Given the description of an element on the screen output the (x, y) to click on. 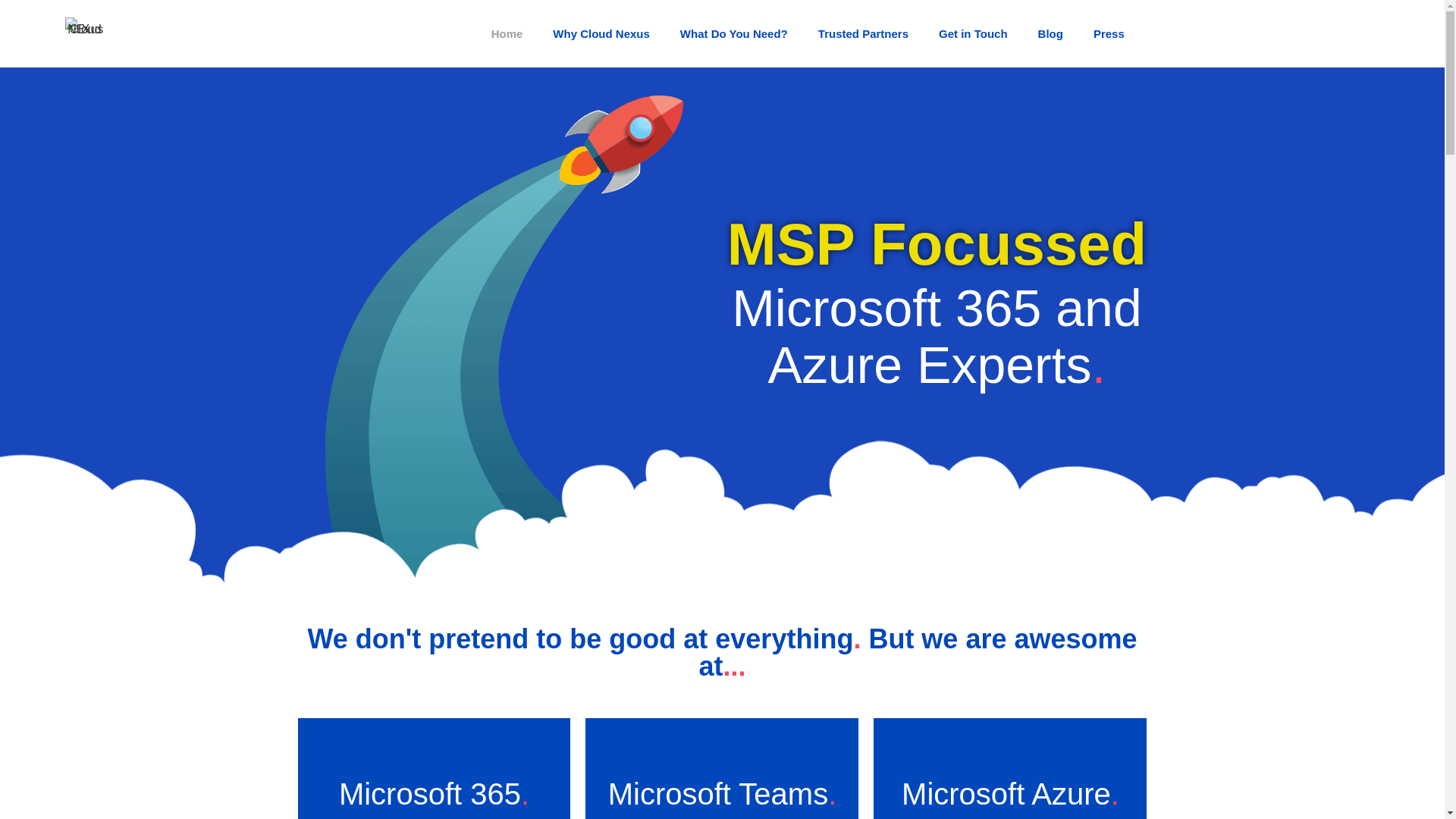
Get in Touch (973, 33)
Trusted Partners (863, 33)
What Do You Need? (734, 33)
Why Cloud Nexus (601, 33)
Home (507, 33)
Cloud NExus X (84, 35)
Press (1109, 33)
Blog (1050, 33)
